Given the description of an element on the screen output the (x, y) to click on. 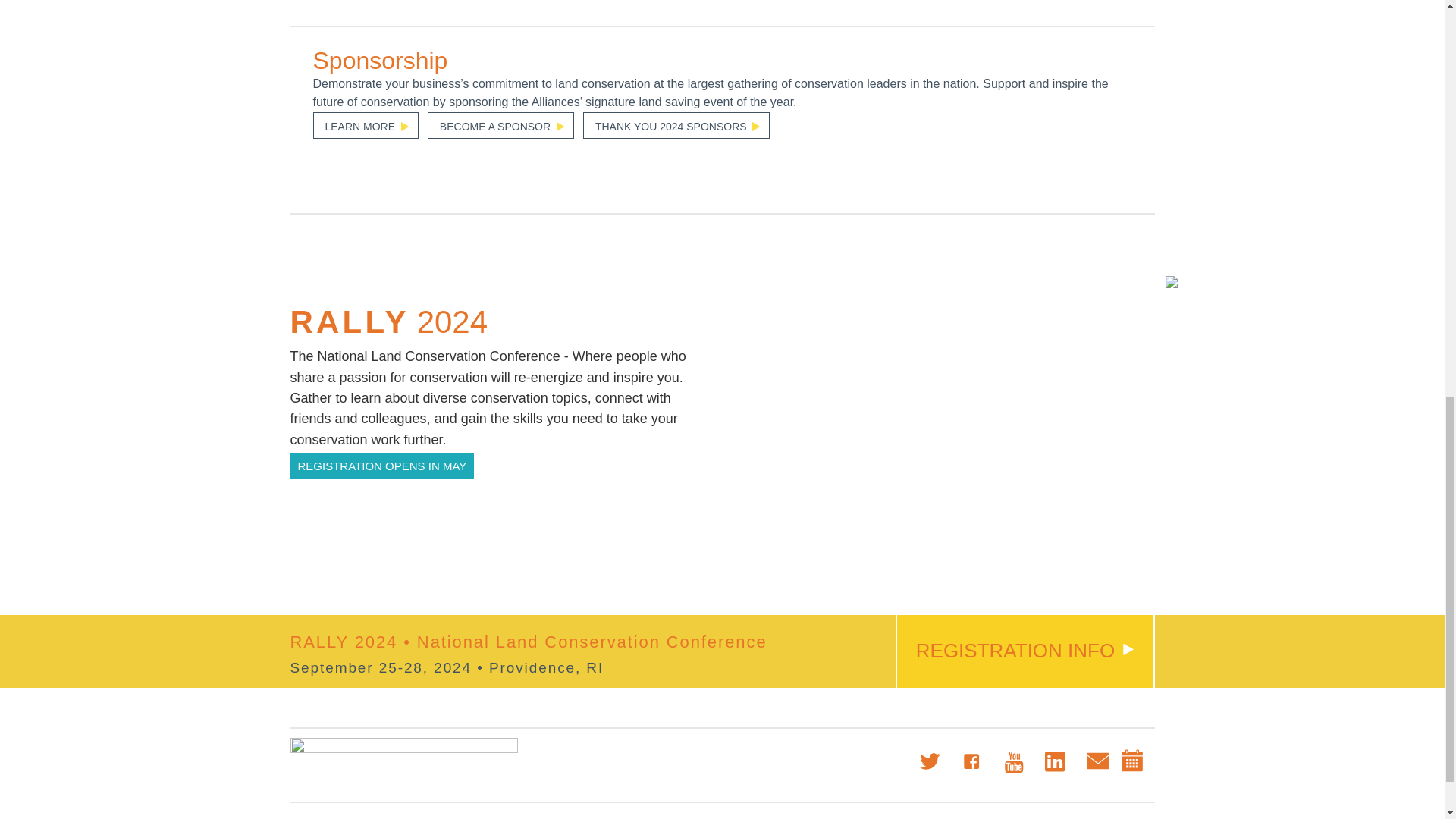
LEARN MORE  (365, 125)
BECOME A SPONSOR   (500, 125)
THANK YOU 2024 SPONSORS   (676, 125)
